Given the description of an element on the screen output the (x, y) to click on. 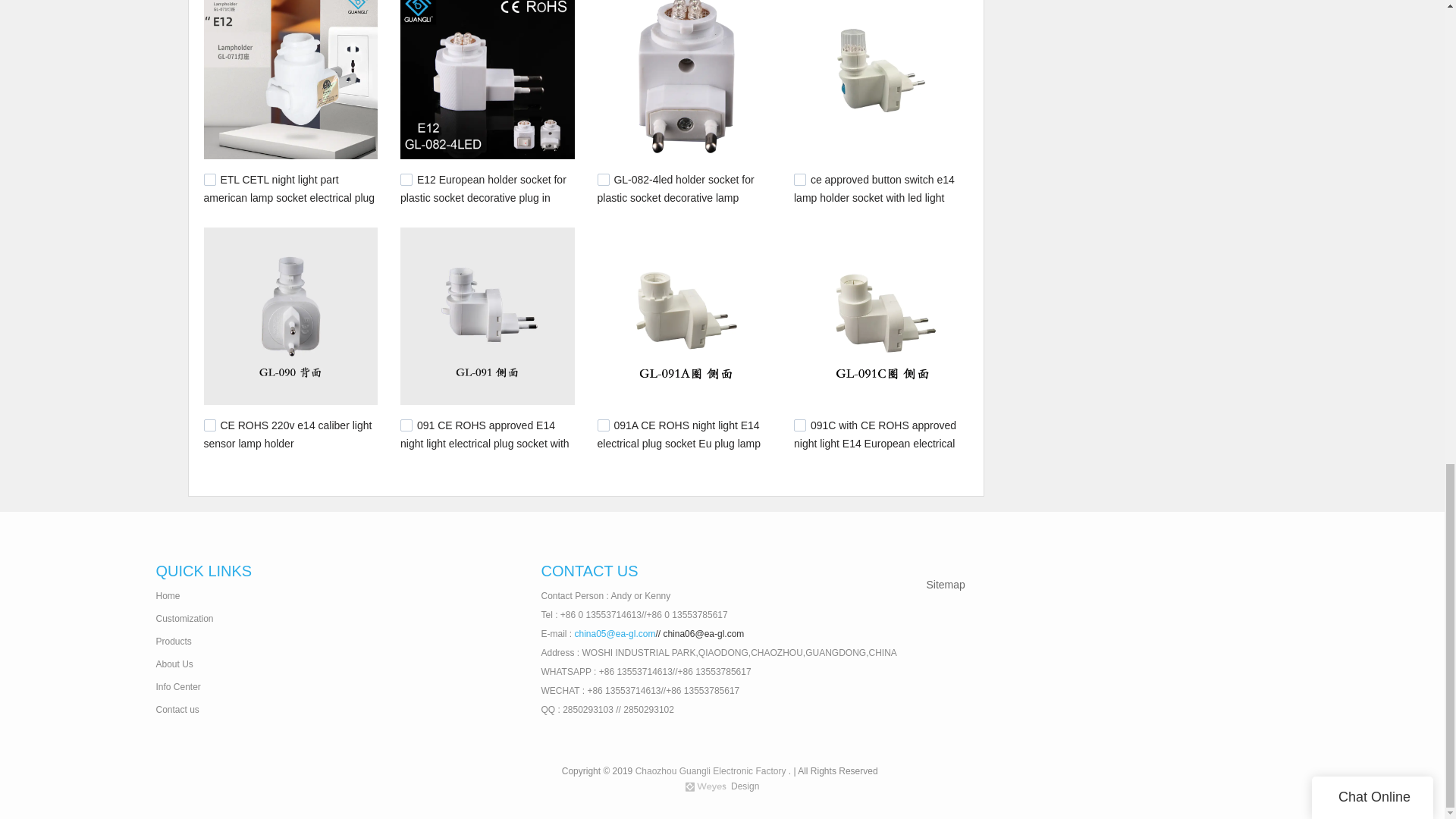
4344 (209, 179)
10487 (603, 425)
10479 (603, 179)
9256 (406, 179)
10412 (406, 425)
CE ROHS 220v e14 caliber light sensor lamp holder (287, 433)
10416 (209, 425)
9305 (799, 179)
